Given the description of an element on the screen output the (x, y) to click on. 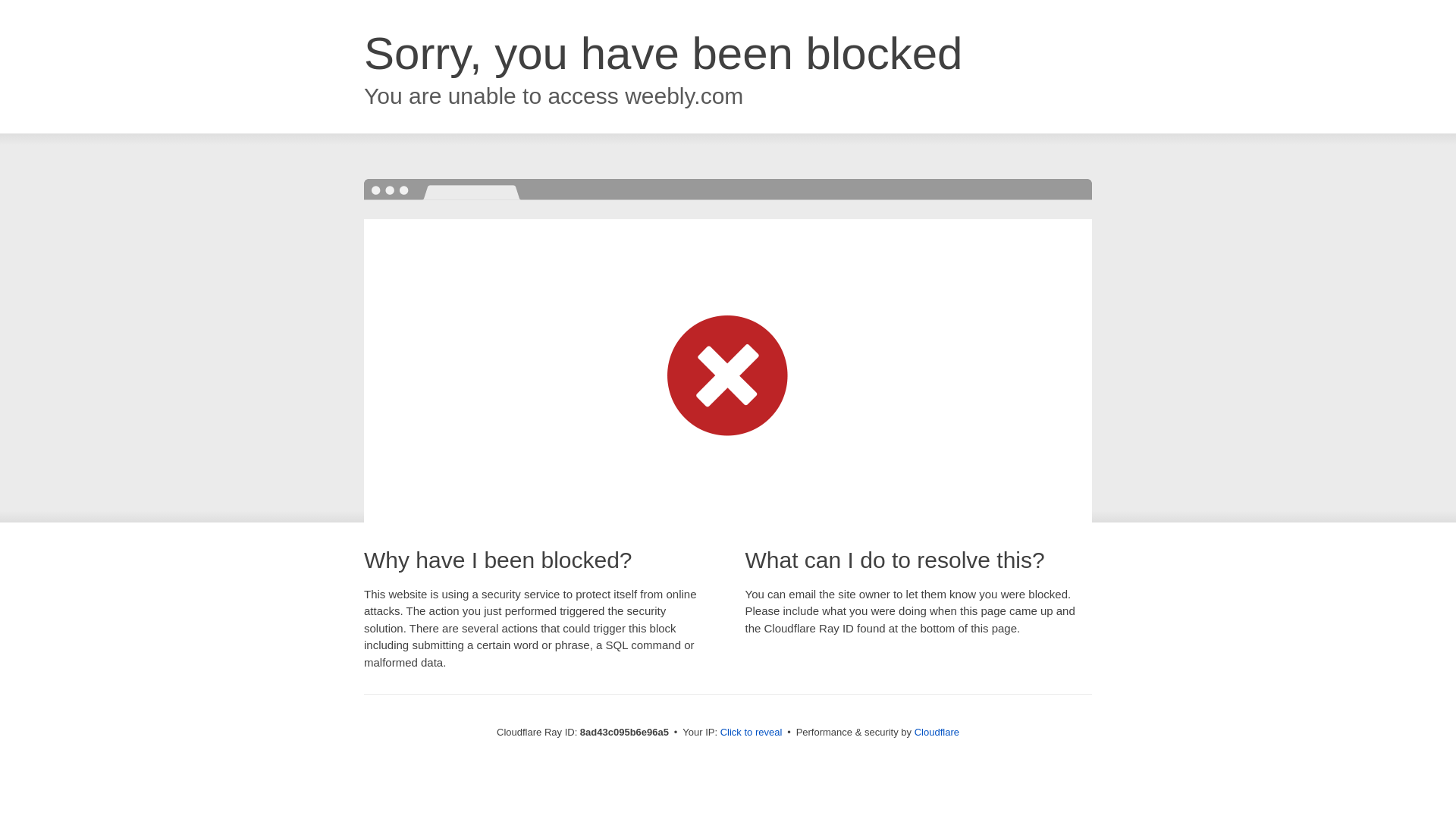
Cloudflare (936, 731)
Click to reveal (751, 732)
